Given the description of an element on the screen output the (x, y) to click on. 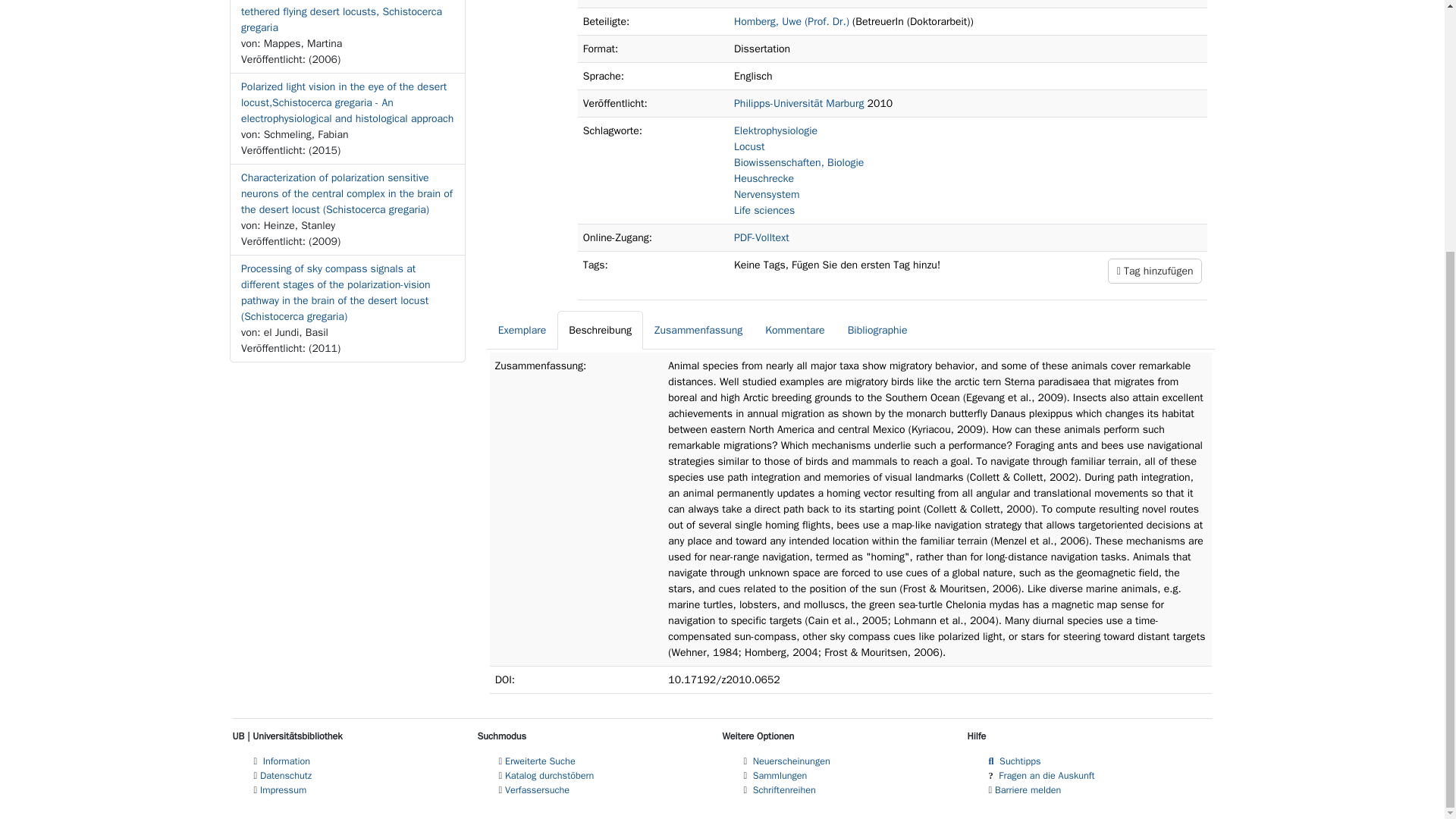
Heuschrecke (763, 178)
Locust (749, 146)
Nervensystem (766, 194)
Biowissenschaften, Biologie (798, 162)
Elektrophysiologie (774, 130)
Life sciences (763, 210)
